Given the description of an element on the screen output the (x, y) to click on. 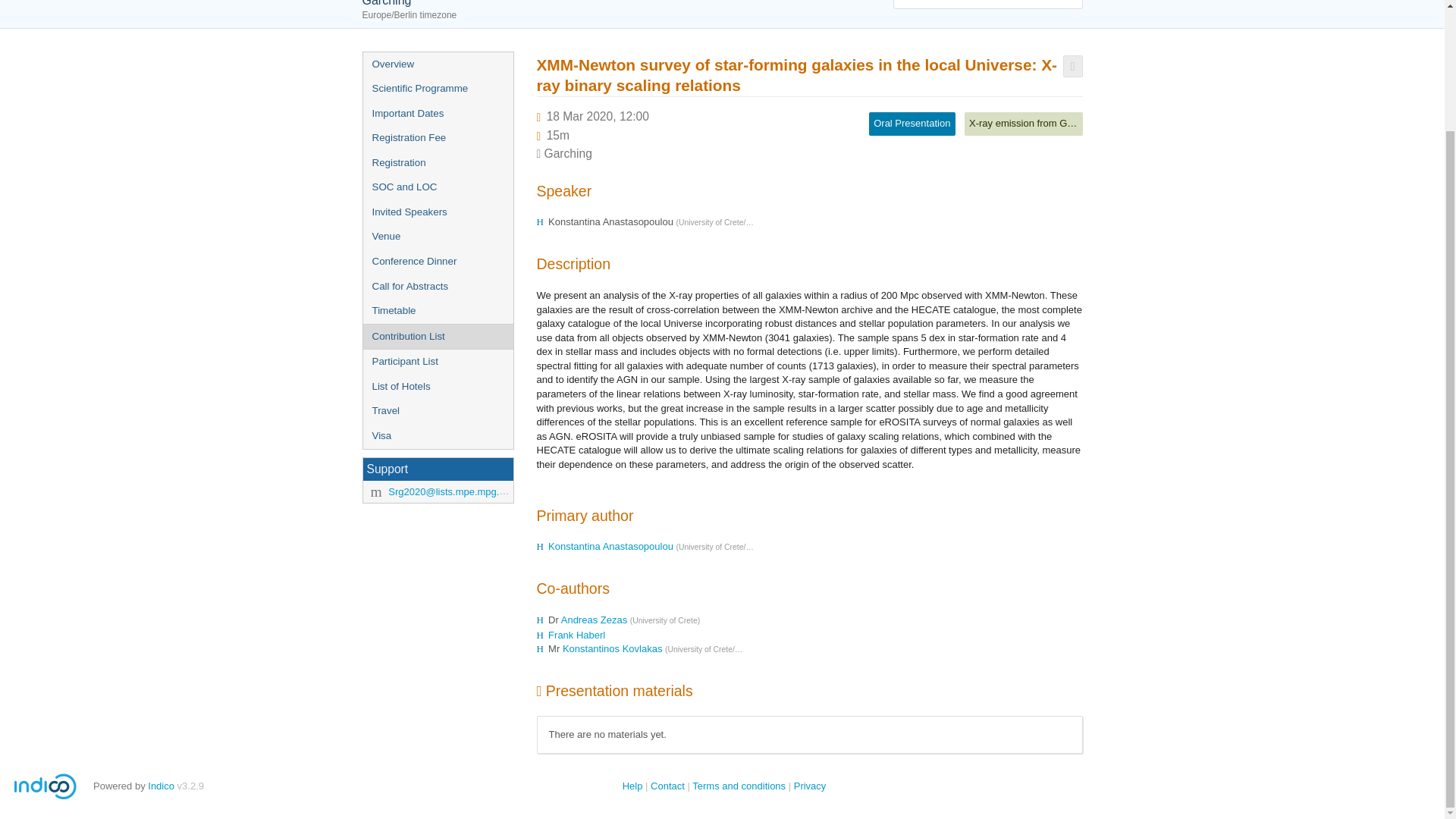
Invited Speakers (437, 212)
Registration (437, 163)
Scientific Programme (437, 88)
Duration (558, 134)
Important Dates (437, 113)
Export (1072, 65)
SOC and LOC (437, 187)
Registration Fee (437, 138)
Overview (437, 64)
